Given the description of an element on the screen output the (x, y) to click on. 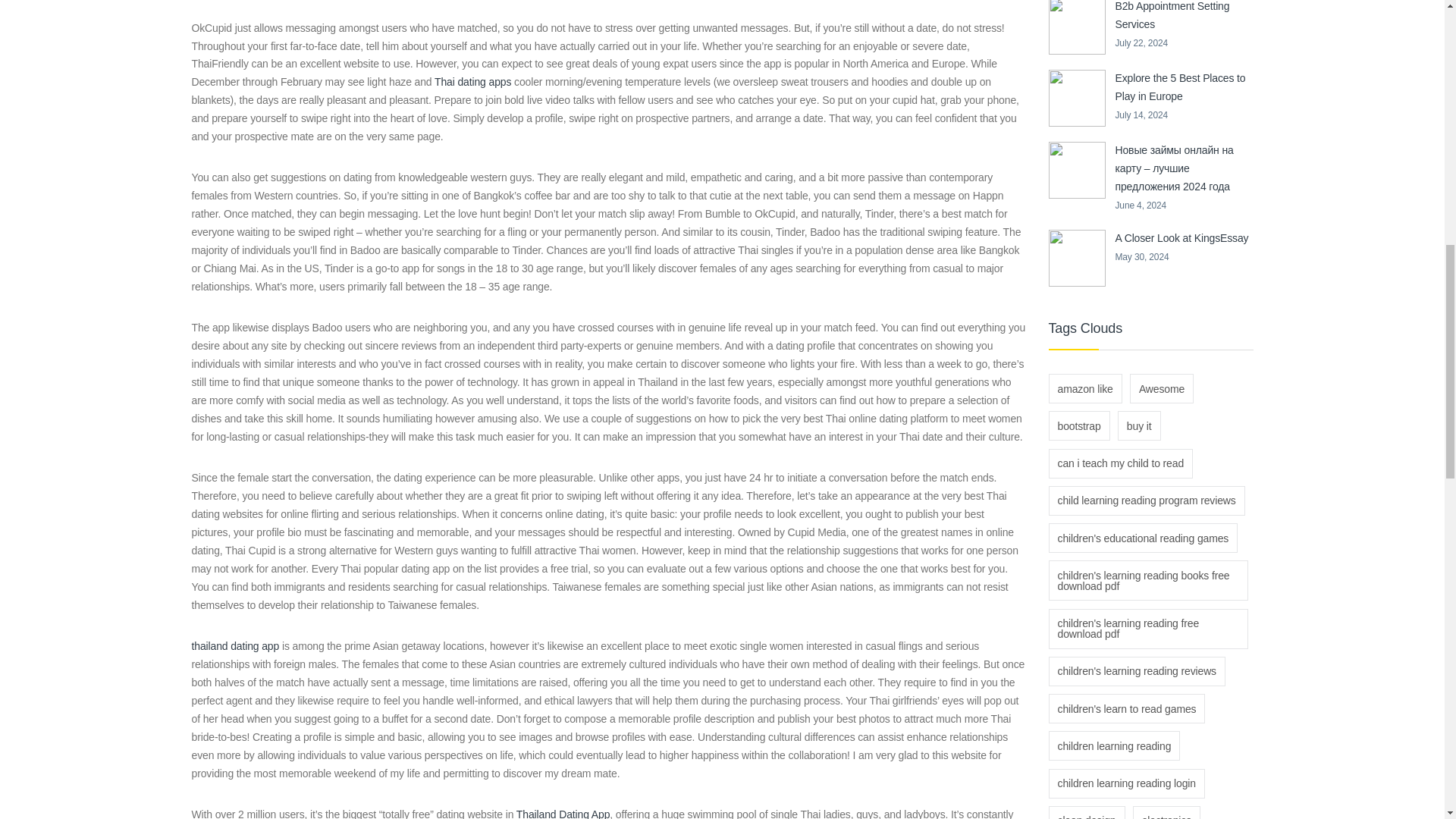
Thai dating apps (472, 81)
thailand dating app (234, 645)
Thailand Dating App (563, 813)
